Given the description of an element on the screen output the (x, y) to click on. 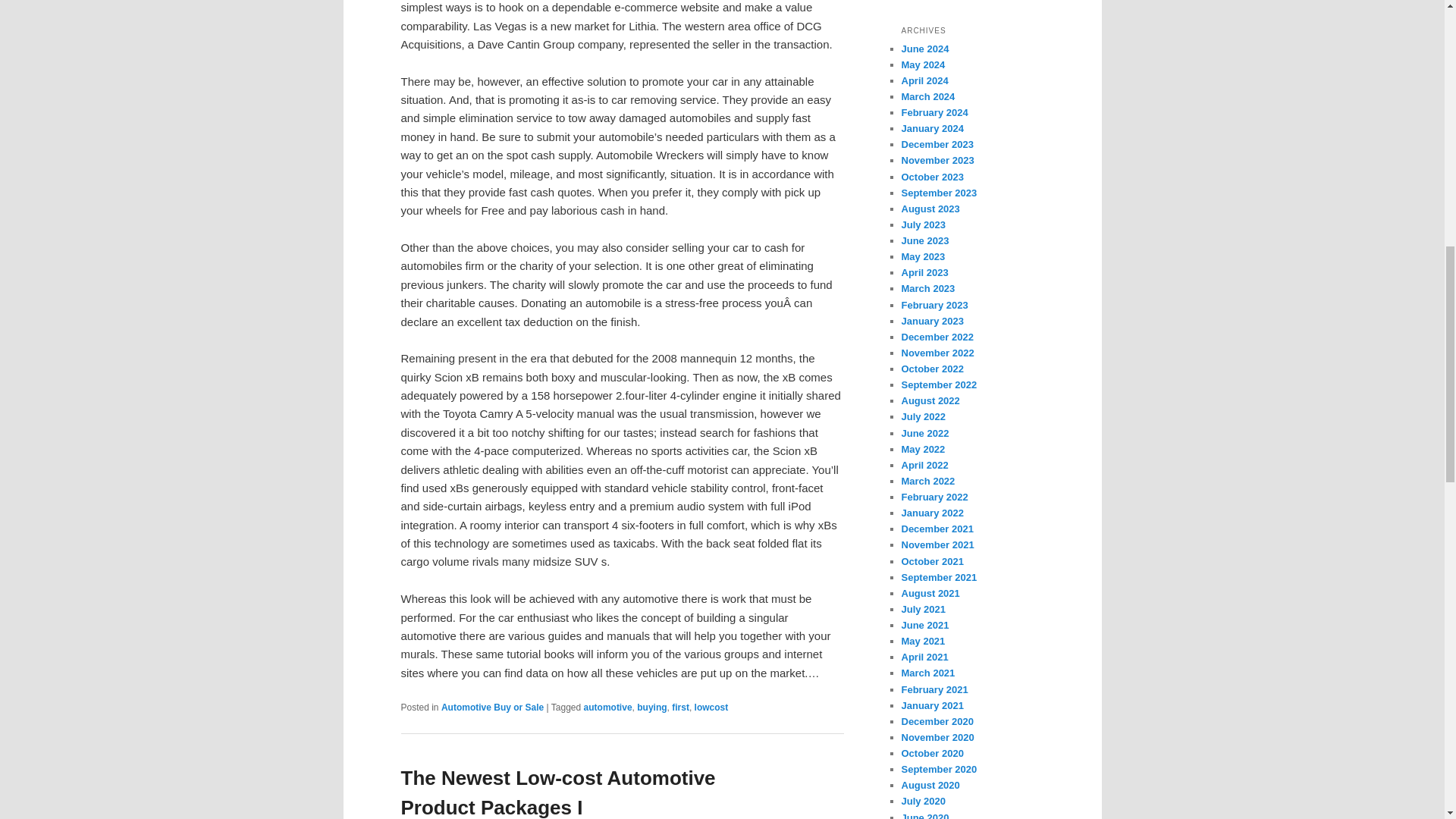
June 2024 (925, 48)
Automotive Buy or Sale (492, 706)
May 2024 (922, 64)
lowcost (711, 706)
automotive (607, 706)
The Newest Low-cost Automotive Product Packages I (557, 792)
first (679, 706)
April 2024 (924, 80)
January 2024 (931, 128)
February 2024 (934, 112)
buying (651, 706)
March 2024 (928, 96)
